Given the description of an element on the screen output the (x, y) to click on. 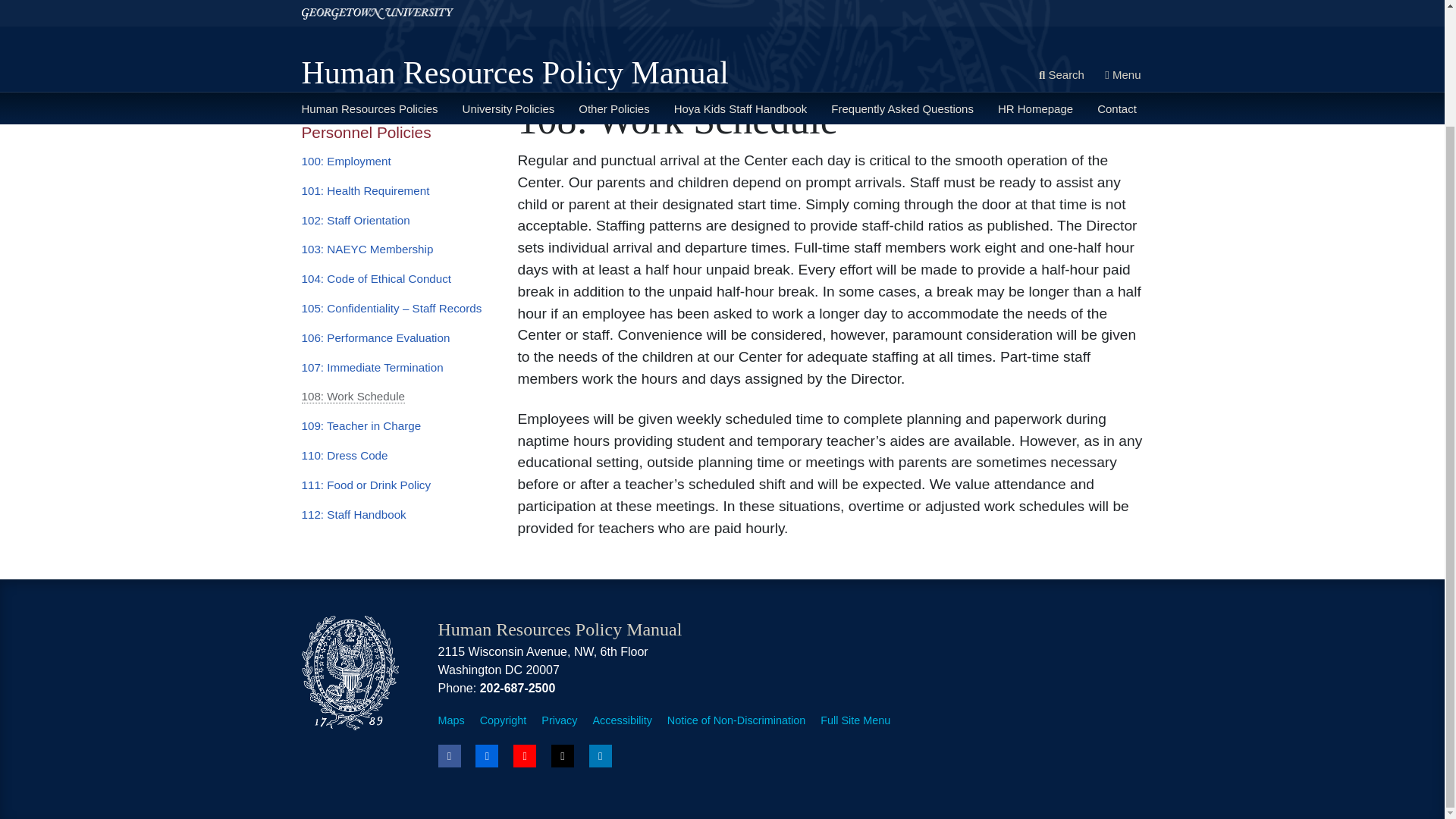
Toggle sub-navigation (372, 13)
Toggle sub-navigation (534, 13)
